Given the description of an element on the screen output the (x, y) to click on. 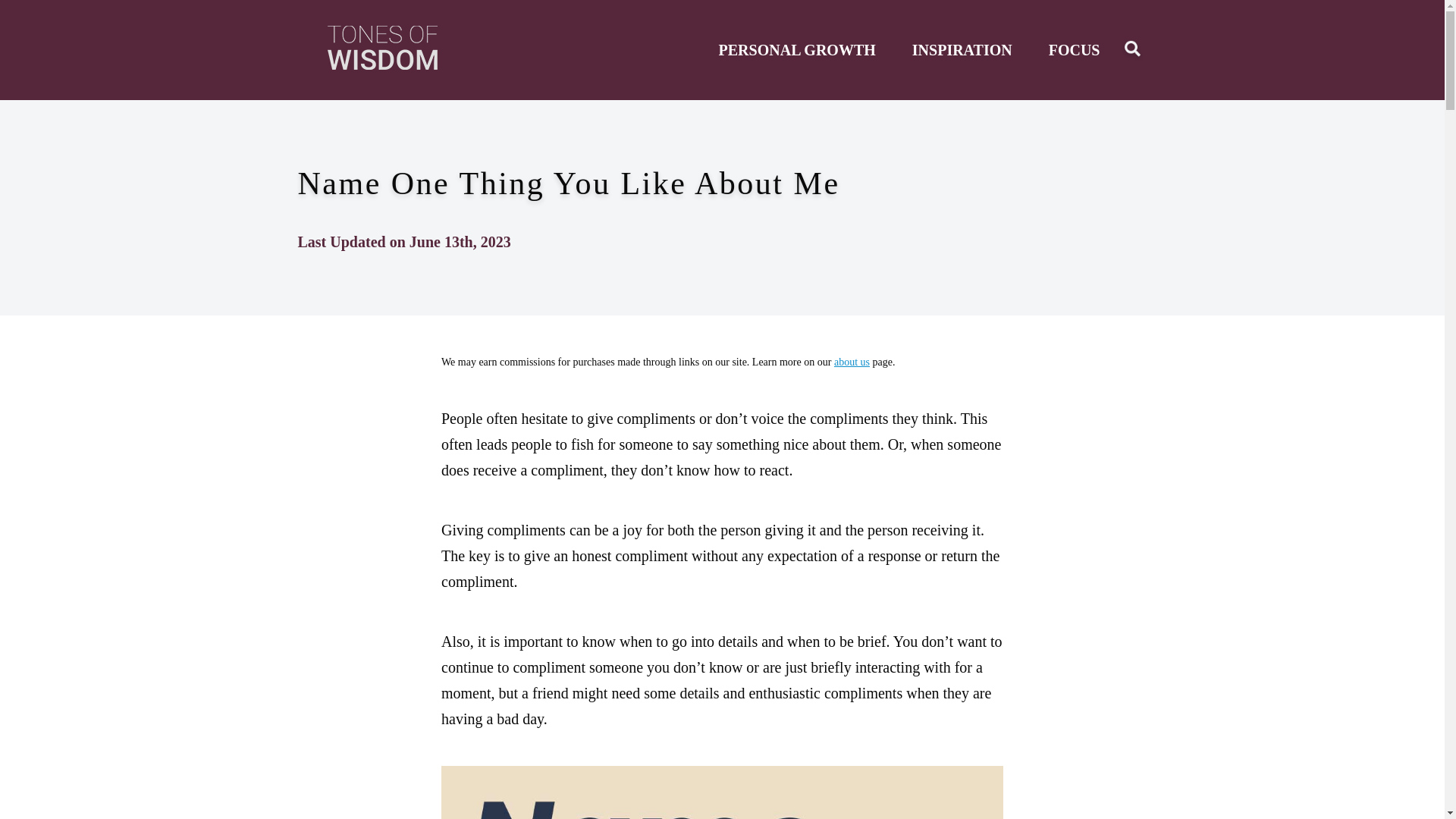
about us (851, 361)
PERSONAL GROWTH (797, 49)
INSPIRATION (961, 49)
